Given the description of an element on the screen output the (x, y) to click on. 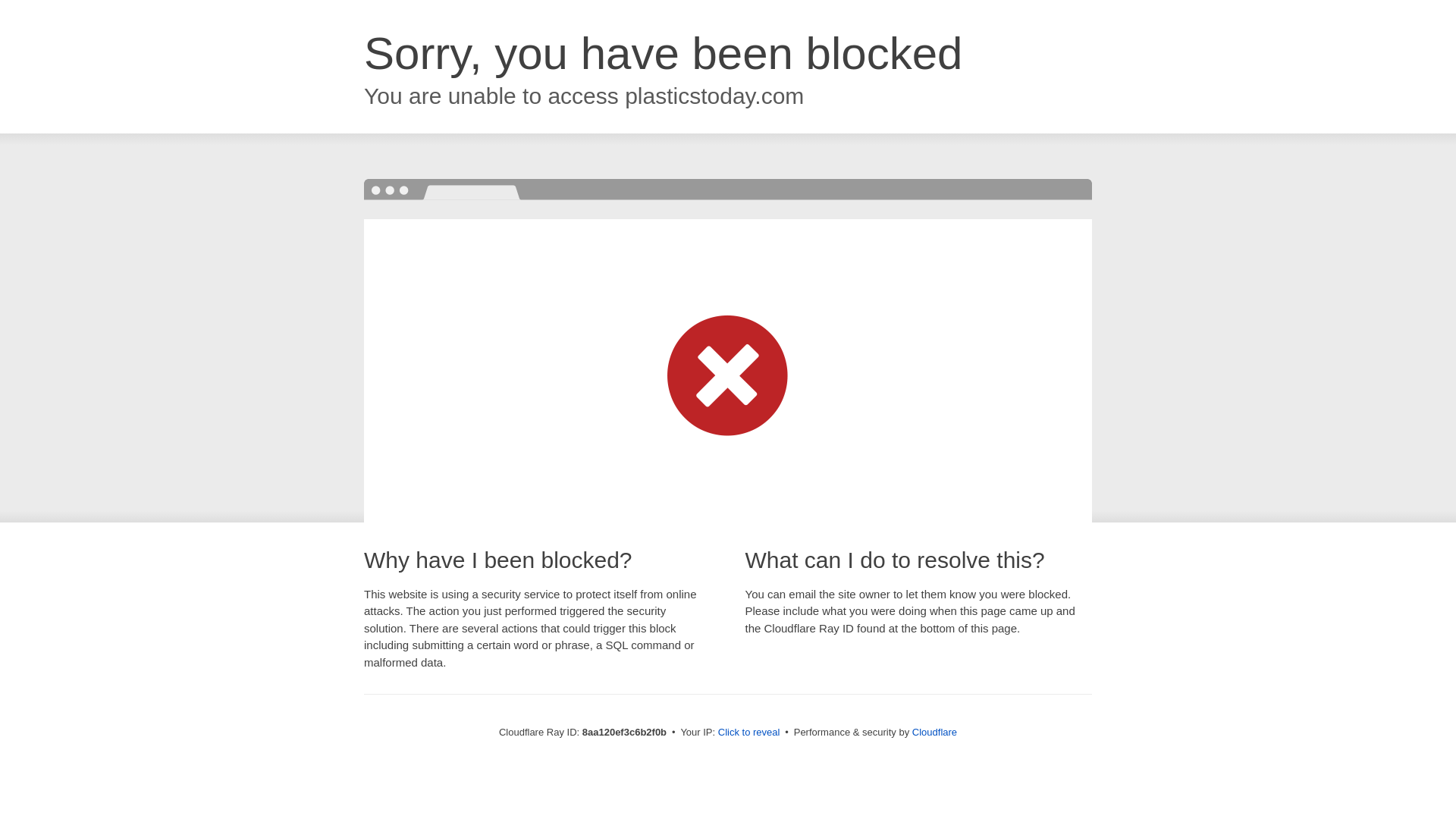
Cloudflare (934, 731)
Click to reveal (748, 732)
